Given the description of an element on the screen output the (x, y) to click on. 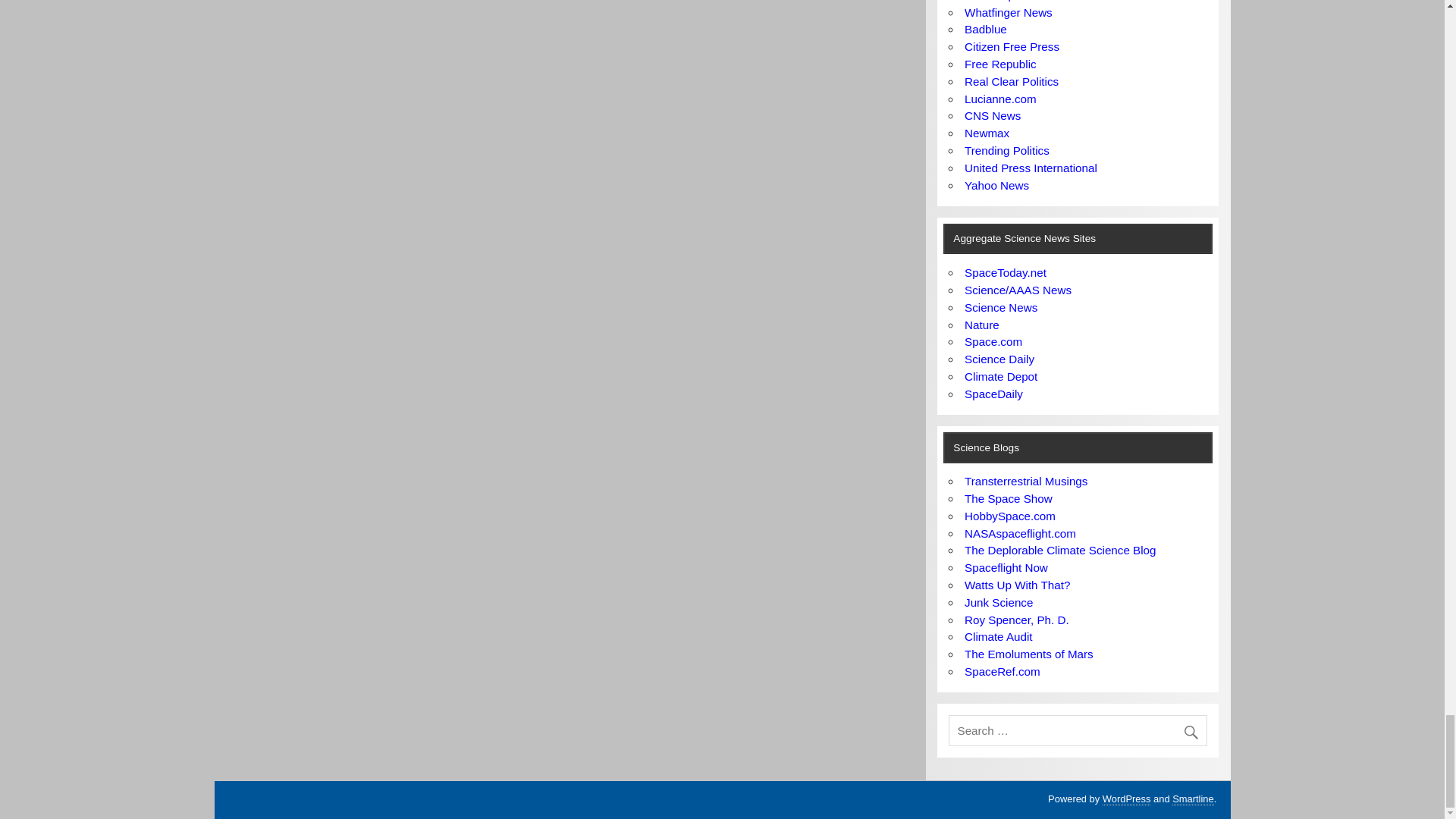
Science news source (1017, 289)
News feed of space related stories on the web (1004, 272)
Science news source (998, 358)
Climate and science news from a skeptical perspective (1016, 584)
Climate science from a skeptical perspective (999, 376)
climate research (997, 635)
Science and climate reporting (997, 602)
blog for The Space Show (1007, 498)
Climate science (1015, 619)
Space news source (993, 393)
